Given the description of an element on the screen output the (x, y) to click on. 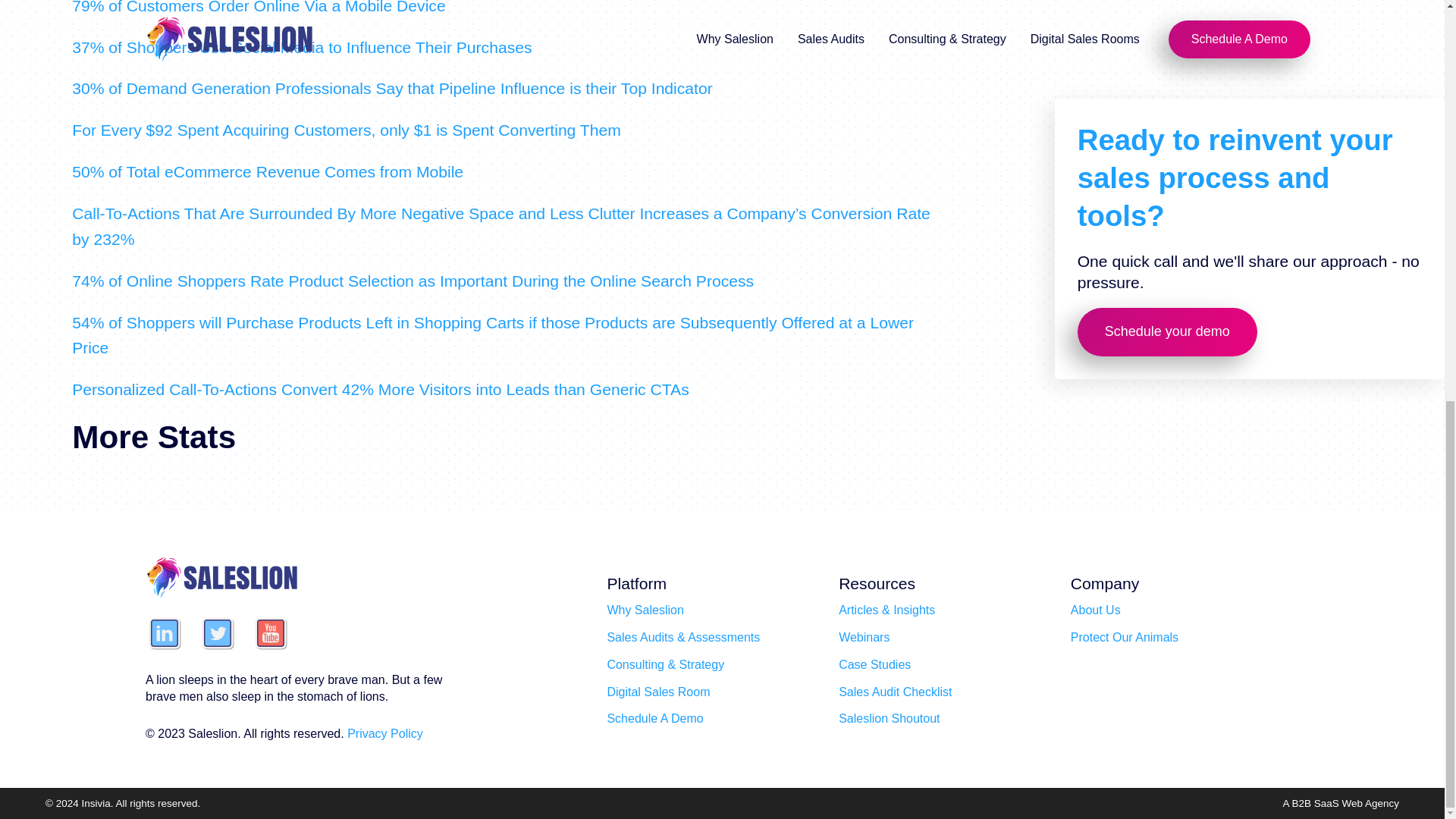
Privacy Policy (385, 734)
Schedule A Demo (655, 718)
Sales Audit Checklist (895, 692)
Why Saleslion (644, 610)
Digital Sales Room (658, 692)
Webinars (863, 637)
Resources (876, 583)
Platform (636, 583)
Case Studies (874, 664)
